Given the description of an element on the screen output the (x, y) to click on. 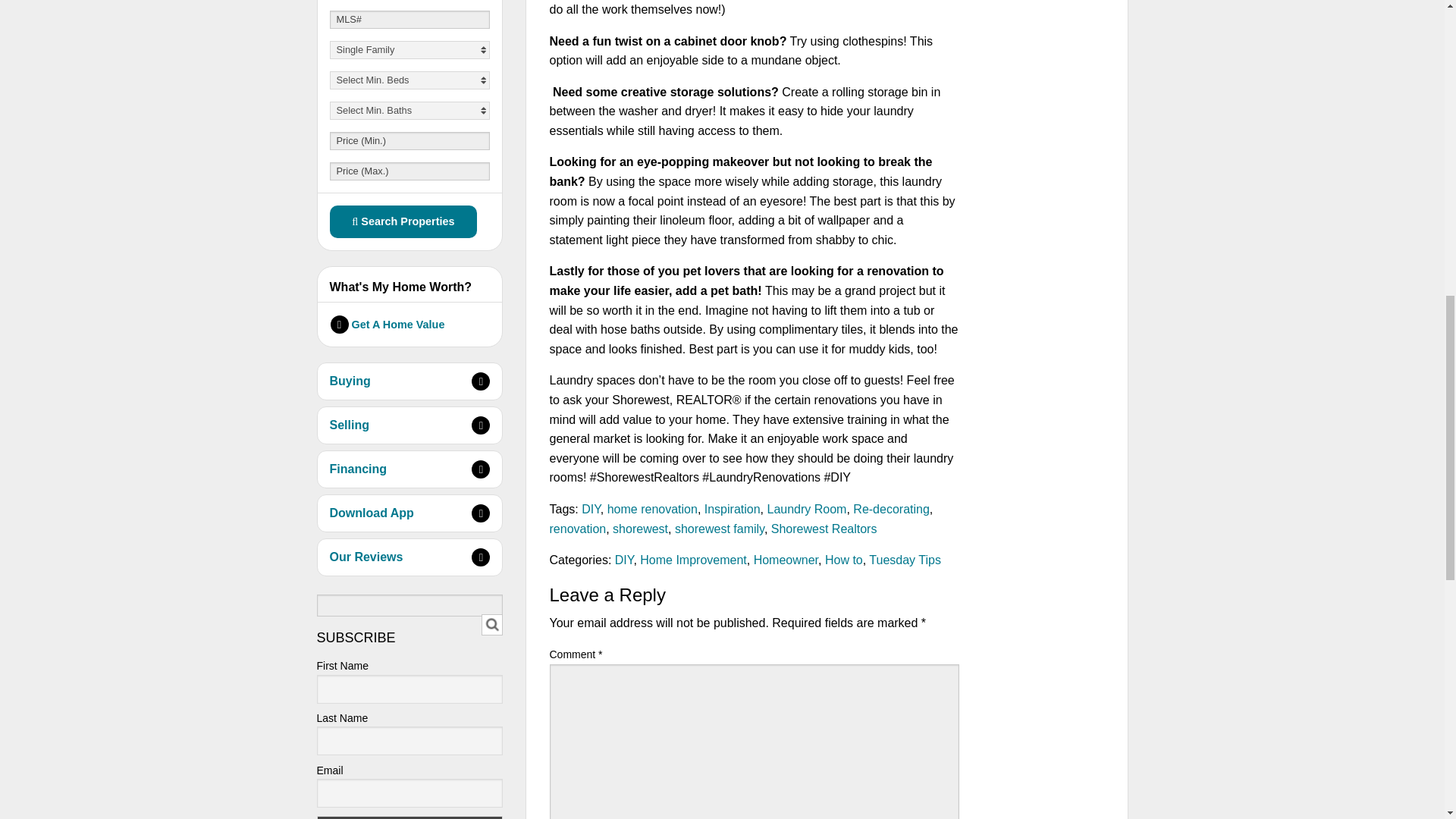
DIY (589, 508)
Re-decorating (891, 508)
Home Improvement (693, 559)
renovation (576, 528)
Shorewest Realtors (824, 528)
shorewest family (719, 528)
Search (491, 624)
Inspiration (732, 508)
home renovation (652, 508)
shorewest (640, 528)
DIY (623, 559)
Laundry Room (806, 508)
SUBSCRIBE (409, 817)
